Given the description of an element on the screen output the (x, y) to click on. 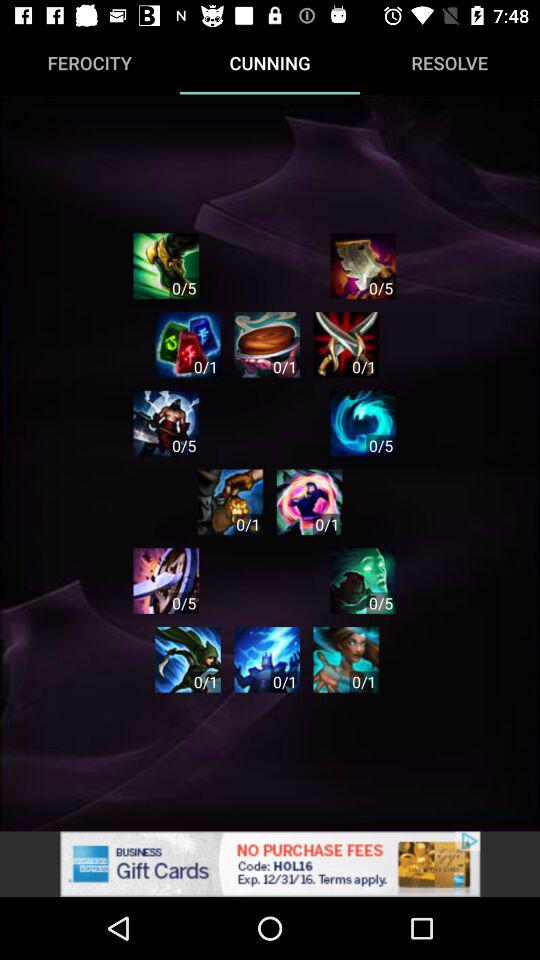
click to the app option (346, 659)
